Given the description of an element on the screen output the (x, y) to click on. 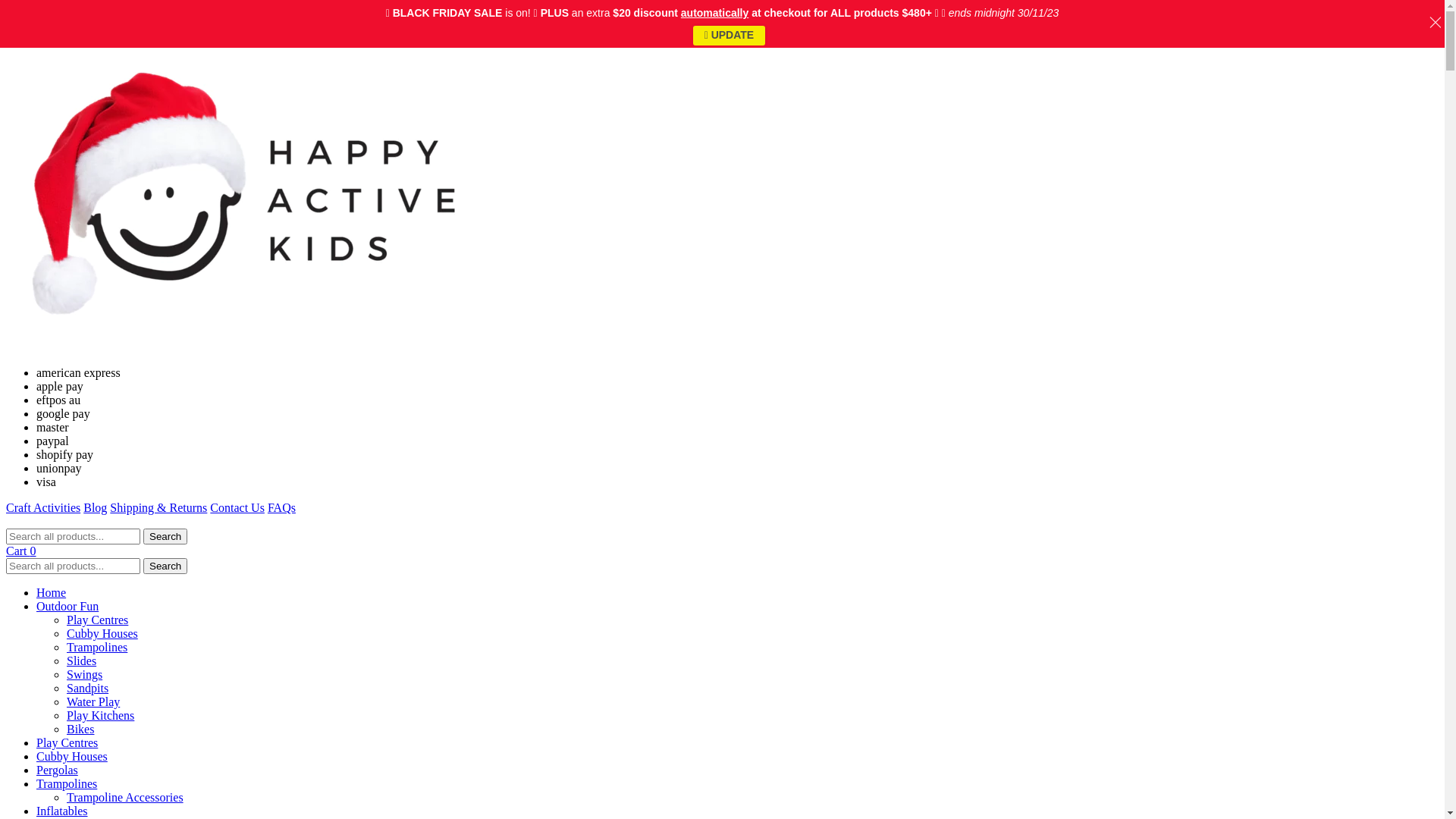
Trampolines Element type: text (66, 783)
Home Element type: text (50, 592)
Play Centres Element type: text (66, 742)
Cubby Houses Element type: text (71, 755)
Cubby Houses Element type: text (102, 633)
Sandpits Element type: text (87, 687)
Play Kitchens Element type: text (100, 715)
Search Element type: text (165, 566)
Craft Activities Element type: text (43, 507)
Outdoor Fun Element type: text (67, 605)
Trampoline Accessories Element type: text (124, 796)
Water Play Element type: text (92, 701)
Slides Element type: text (81, 660)
Contact Us Element type: text (237, 507)
FAQs Element type: text (281, 507)
Cart 0 Element type: text (21, 550)
Inflatables Element type: text (61, 810)
Bikes Element type: text (80, 728)
Blog Element type: text (94, 507)
Search Element type: text (165, 536)
Trampolines Element type: text (96, 646)
Shipping & Returns Element type: text (158, 507)
Pergolas Element type: text (57, 769)
Play Centres Element type: text (97, 619)
Swings Element type: text (84, 674)
